Given the description of an element on the screen output the (x, y) to click on. 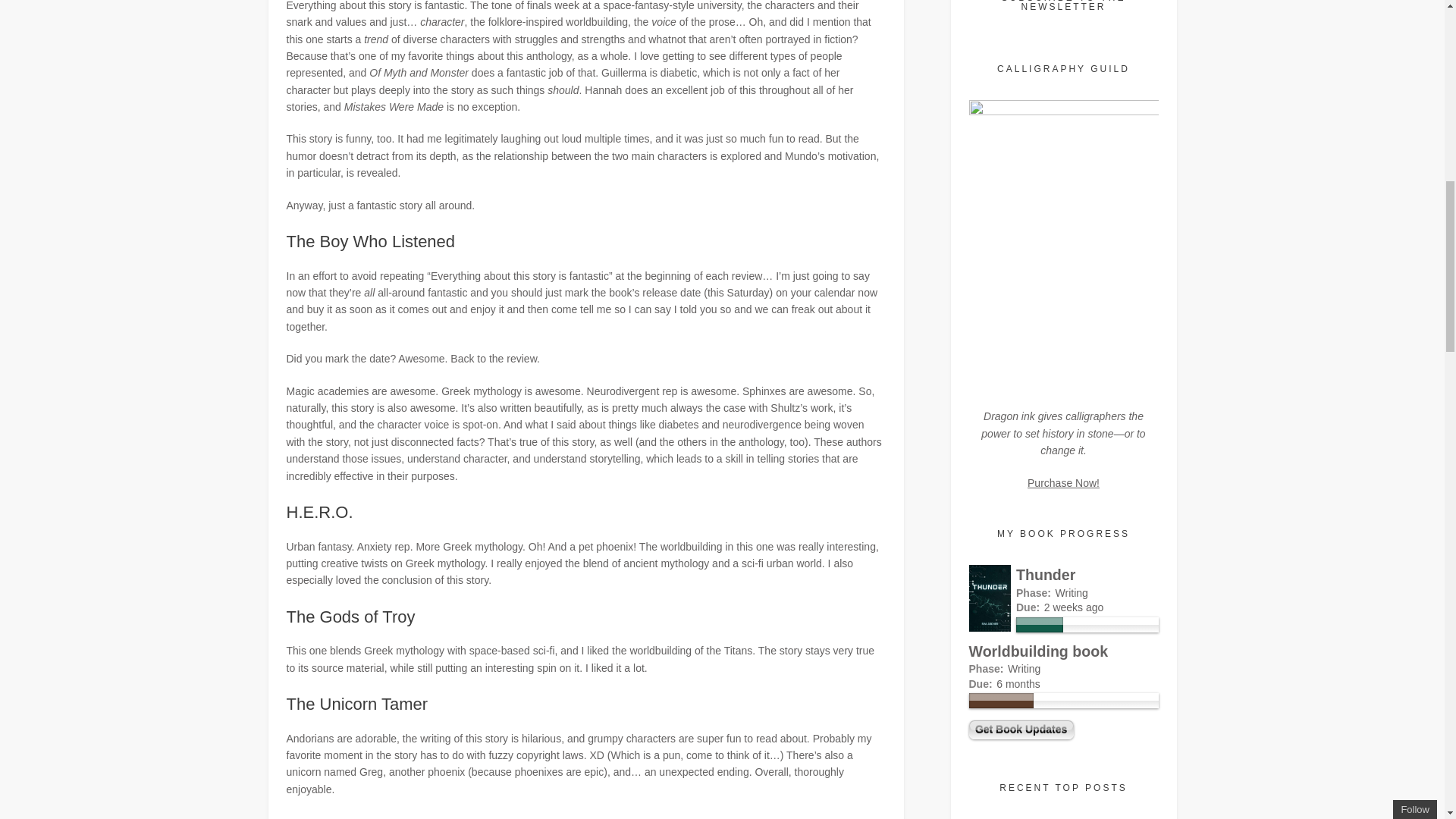
Sign up! (1361, 87)
